Given the description of an element on the screen output the (x, y) to click on. 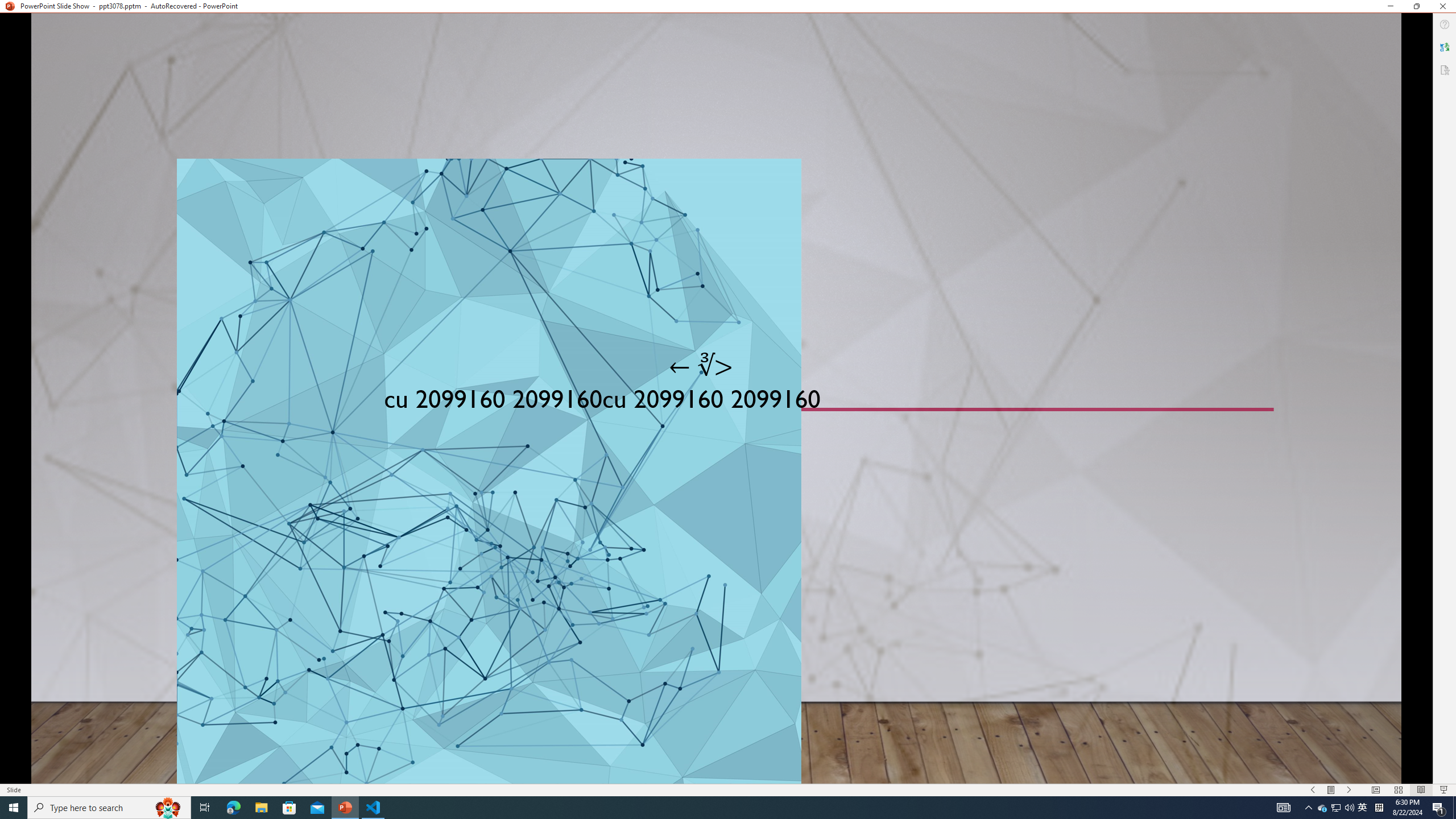
Slide Show Previous On (1313, 790)
Menu On (1331, 790)
Class: MsoCommandBar (728, 789)
Slide Show Next On (1349, 790)
Translator (1444, 47)
